Given the description of an element on the screen output the (x, y) to click on. 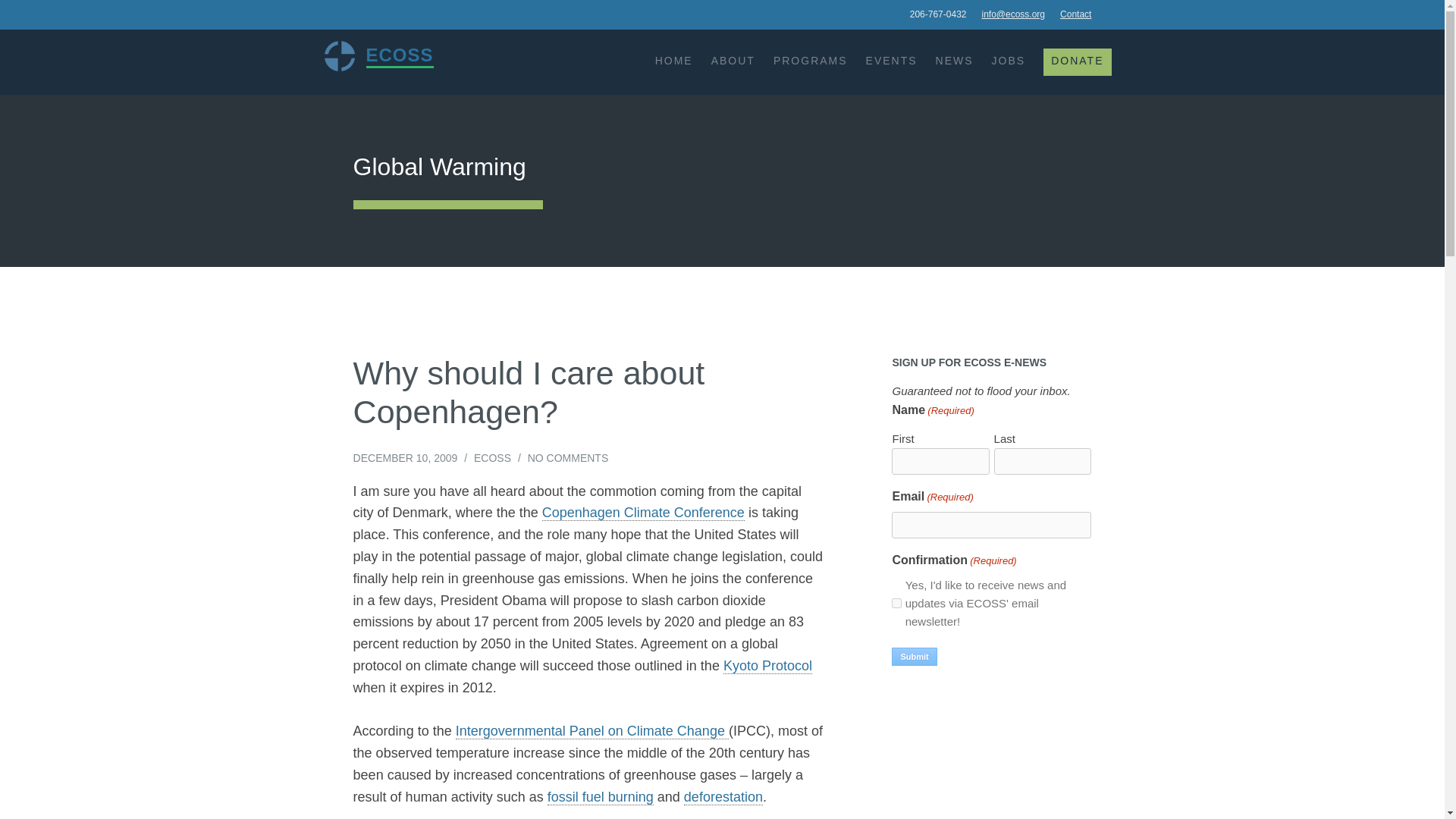
ECOSS (339, 55)
PROGRAMS (810, 61)
JOBS (1008, 61)
NO COMMENTS (567, 458)
ABOUT (733, 61)
ECOSS (398, 55)
Why should I care about Copenhagen? (528, 392)
Copenhagen Climate Conference (642, 512)
Permalink to Why should I care about Copenhagen? comments (567, 458)
Kyoto Protocol (767, 666)
ECOSS (492, 458)
Contact (1074, 14)
Intergovernmental Panel on Climate Change (592, 731)
Submit (913, 656)
HOME (674, 61)
